Given the description of an element on the screen output the (x, y) to click on. 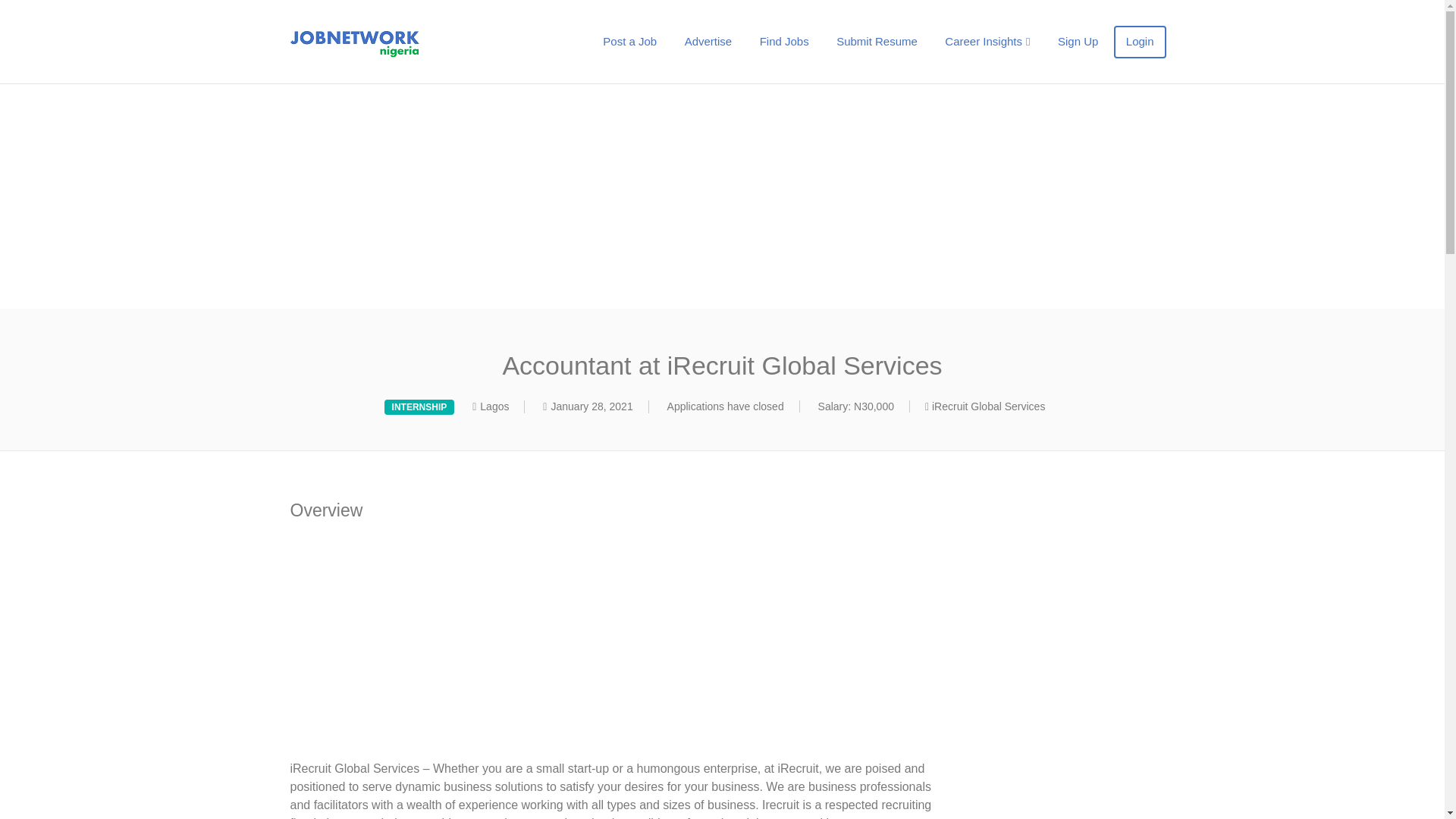
Career Insights (987, 41)
Post a Job (629, 41)
Advertise (708, 41)
iRecruit Global Services (988, 406)
Sign Up (1077, 41)
Lagos (494, 406)
Find Jobs (784, 41)
Submit Resume (877, 41)
Login (1139, 41)
